Given the description of an element on the screen output the (x, y) to click on. 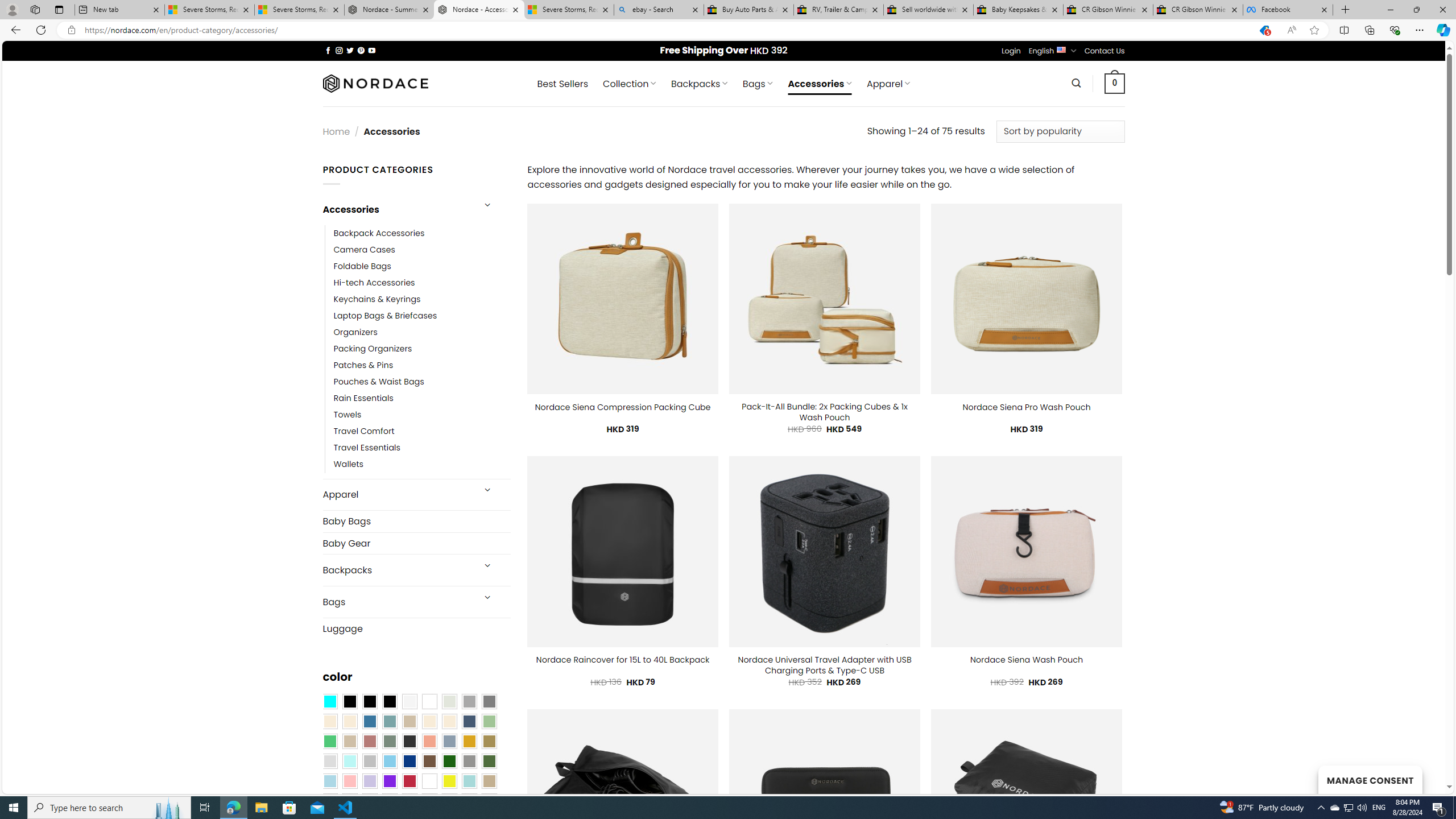
Light Blue (329, 780)
Pouches & Waist Bags (422, 381)
Dark Green (449, 761)
Baby Bags (416, 521)
Brownie (408, 721)
Bags (397, 602)
All Gray (488, 701)
Back (13, 29)
Patches & Pins (363, 365)
Backpack Accessories (379, 232)
Login (1010, 50)
Nordace - Accessories (478, 9)
